Given the description of an element on the screen output the (x, y) to click on. 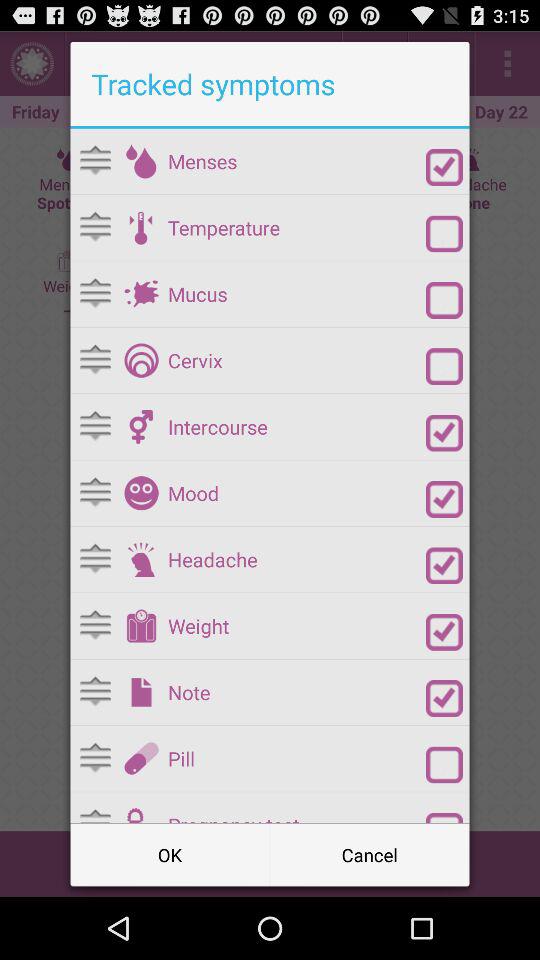
toggle note (444, 698)
